Given the description of an element on the screen output the (x, y) to click on. 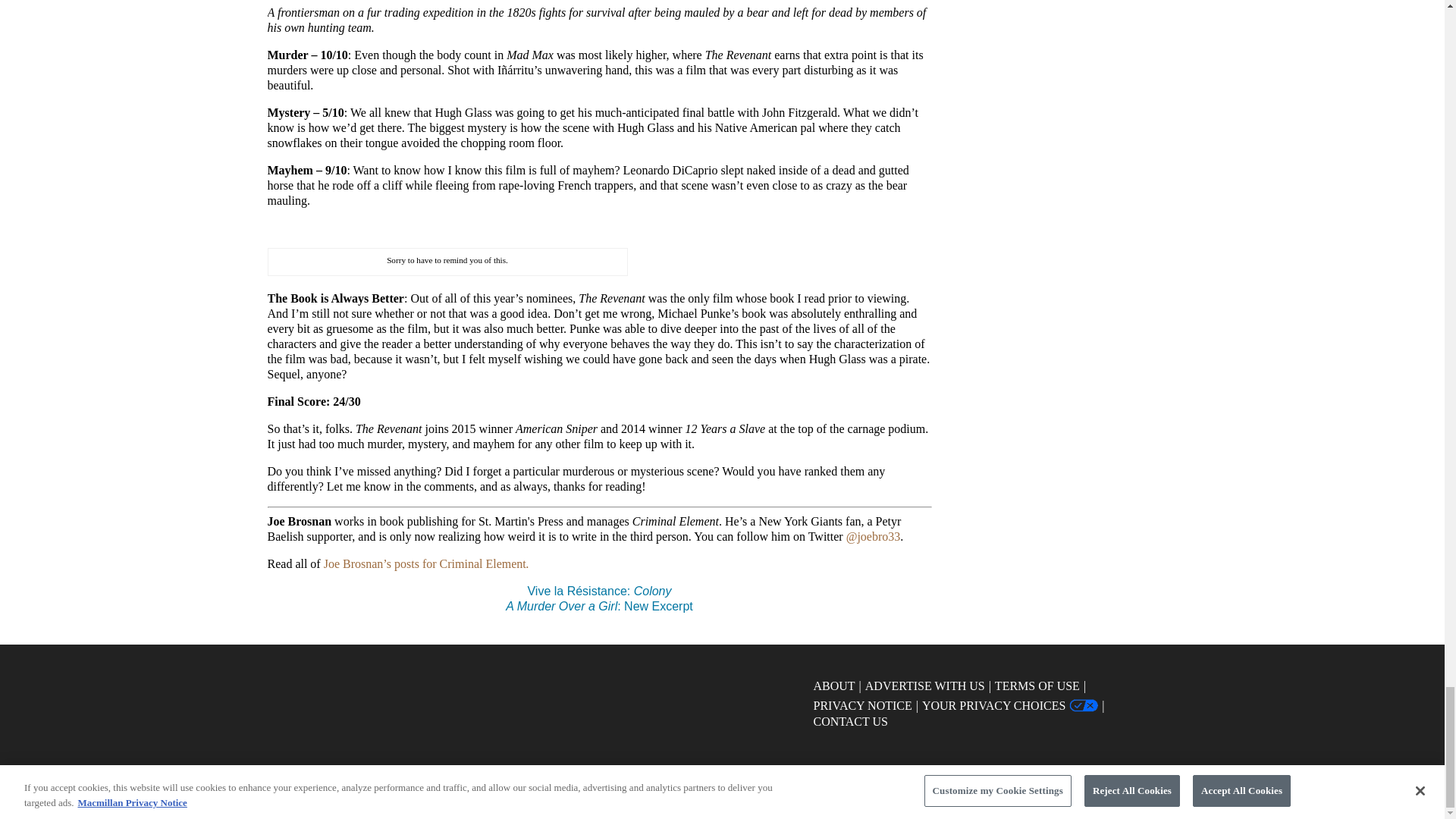
A Murder Over a Girl: New Excerpt (599, 605)
Supadu Website (763, 772)
